Given the description of an element on the screen output the (x, y) to click on. 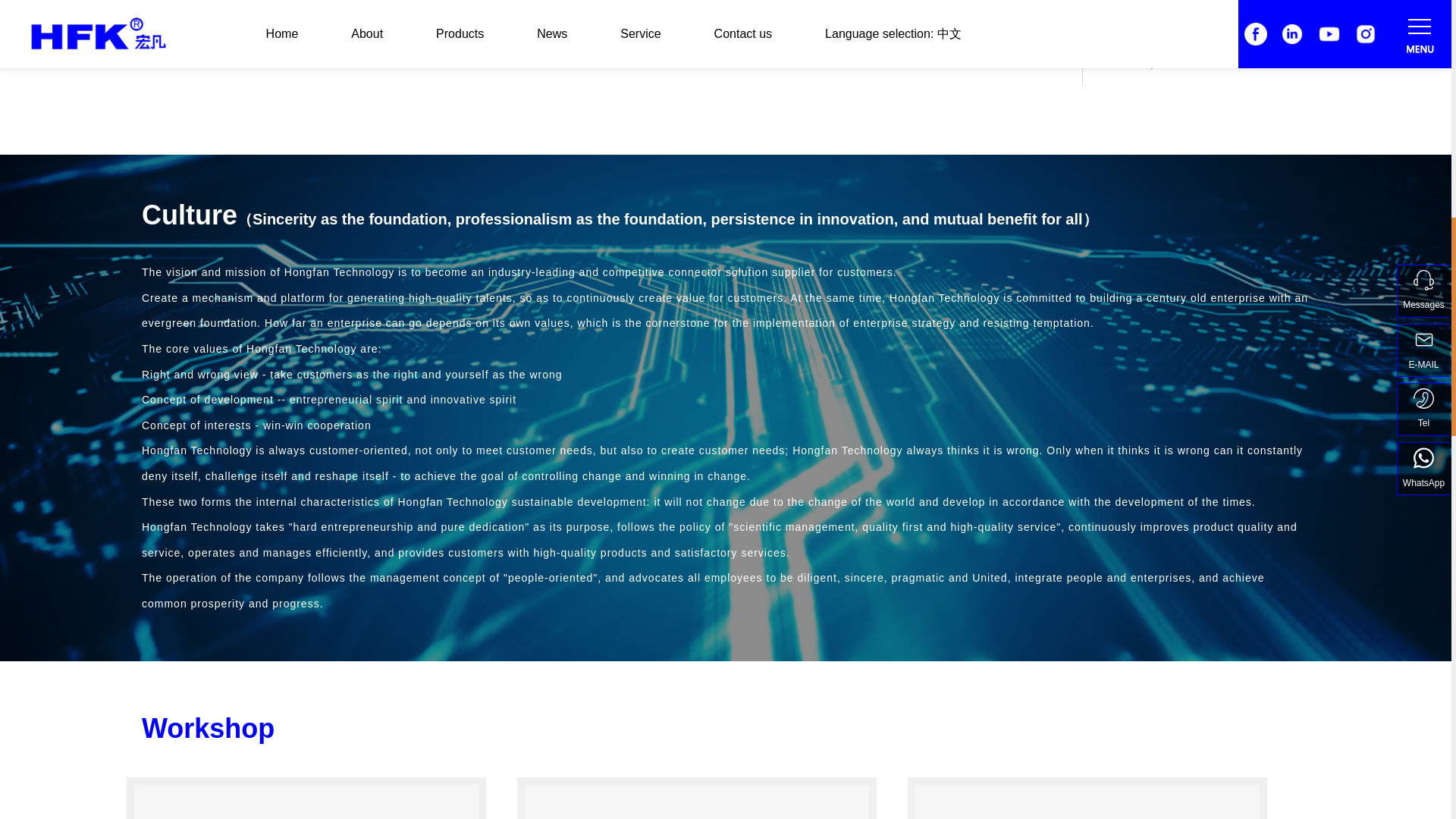
HFK Electronic (305, 801)
HFK Electronic (1087, 801)
HFK Electronic (697, 801)
